Given the description of an element on the screen output the (x, y) to click on. 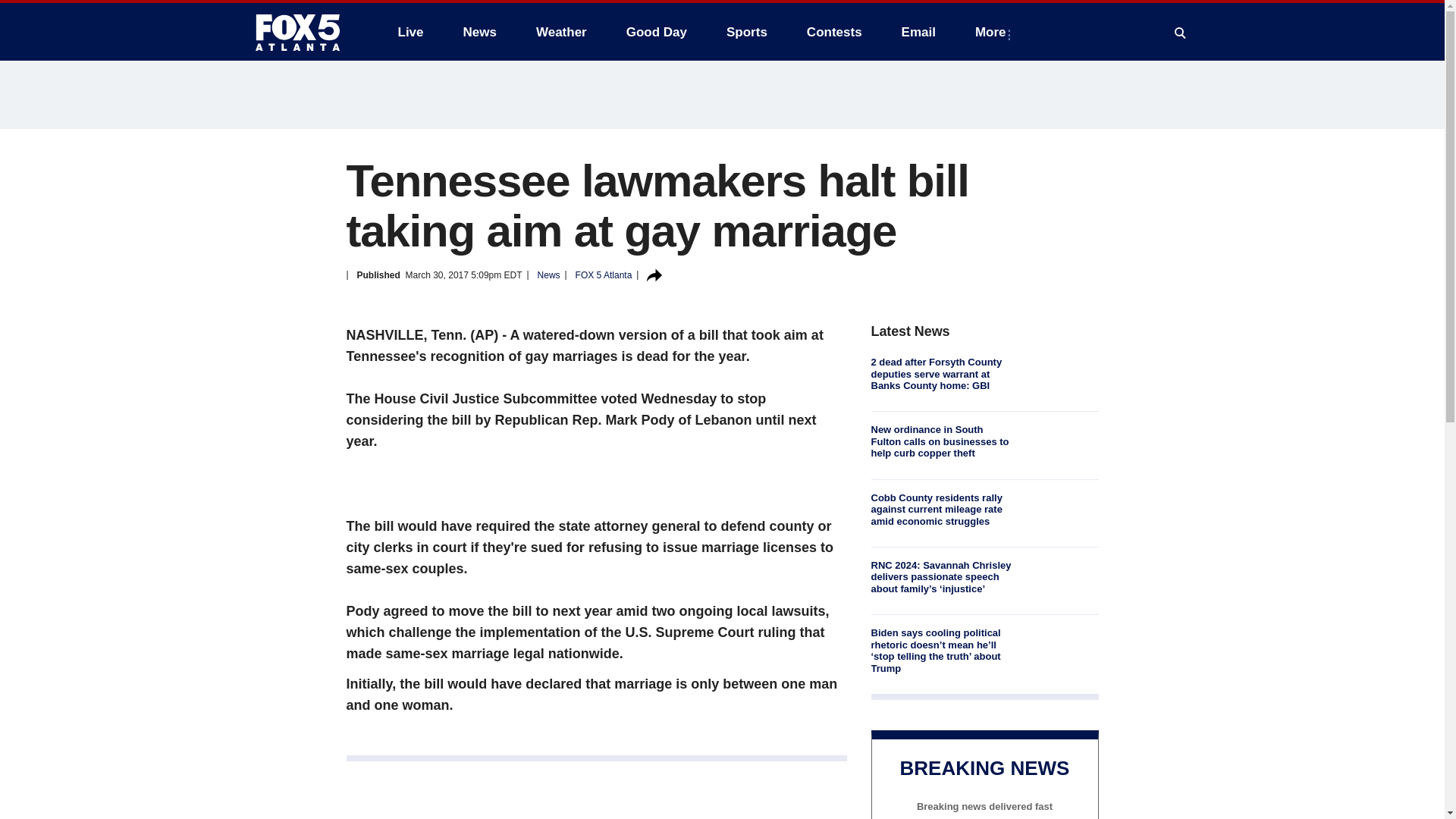
Good Day (656, 32)
Contests (834, 32)
Sports (746, 32)
More (993, 32)
Live (410, 32)
News (479, 32)
Email (918, 32)
Weather (561, 32)
